Given the description of an element on the screen output the (x, y) to click on. 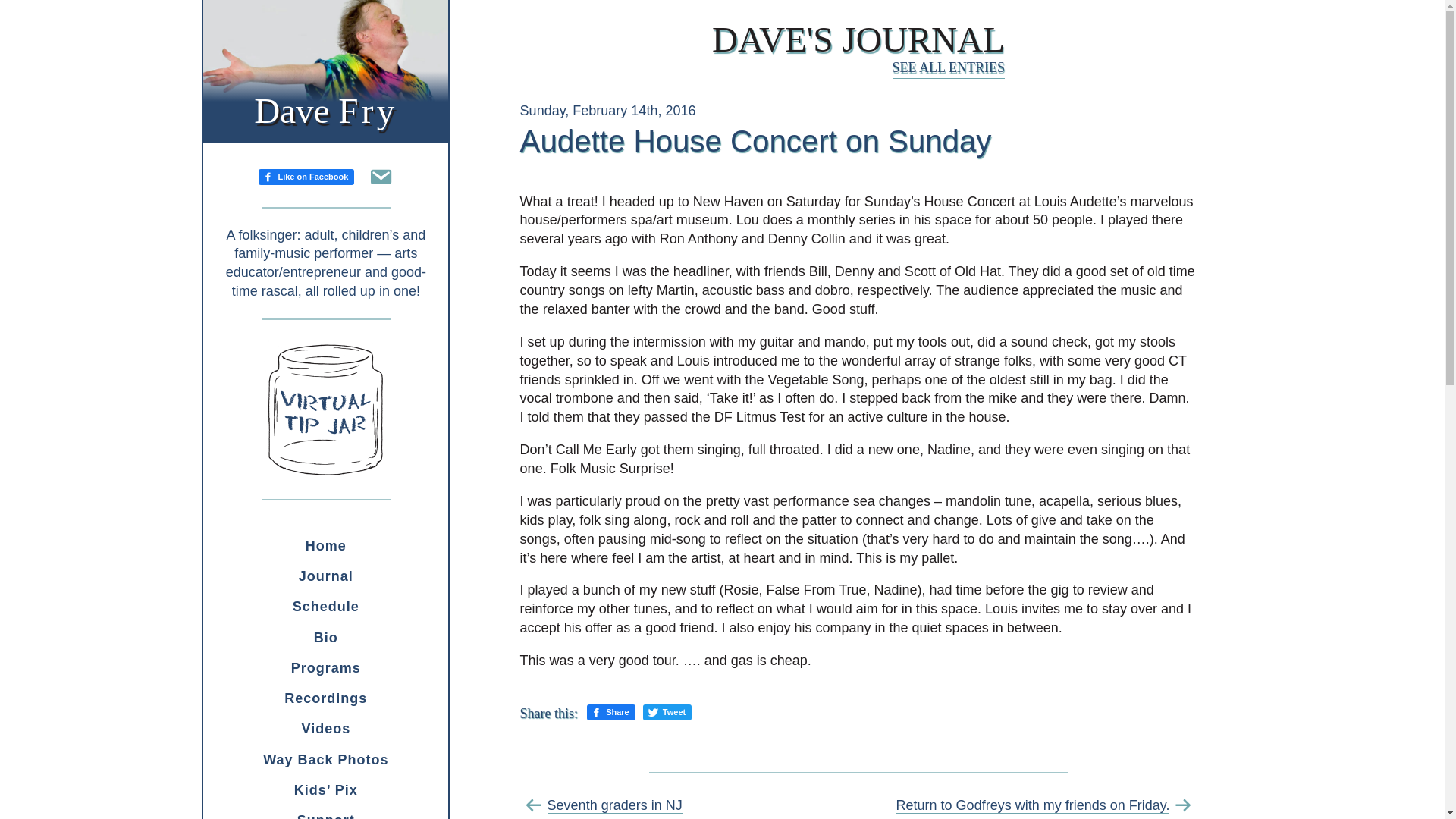
Videos (325, 728)
Schedule (325, 606)
Tweet (667, 712)
Support (325, 812)
Way Back Photos (857, 39)
Dave Fry (325, 759)
Programs (325, 110)
Journal (325, 667)
Recordings (325, 576)
Share (325, 698)
Home (610, 712)
Bio (325, 545)
Like on Facebook (325, 637)
